Given the description of an element on the screen output the (x, y) to click on. 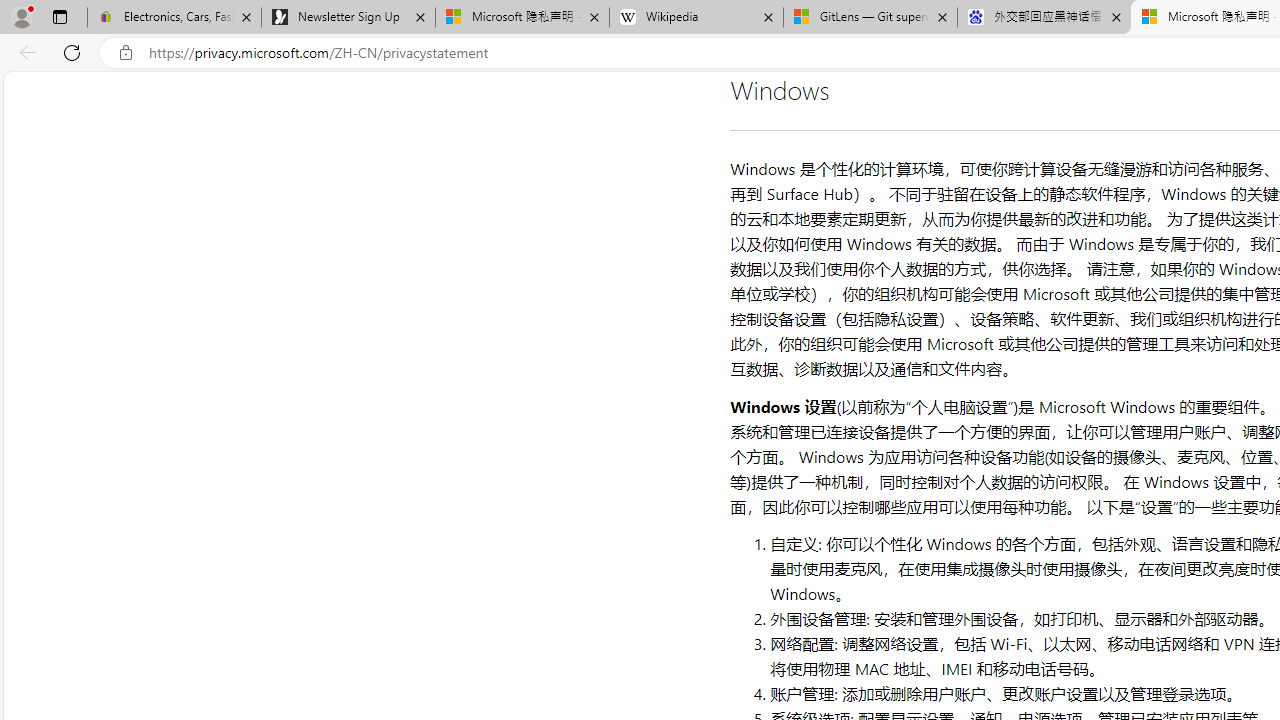
Newsletter Sign Up (348, 17)
